Given the description of an element on the screen output the (x, y) to click on. 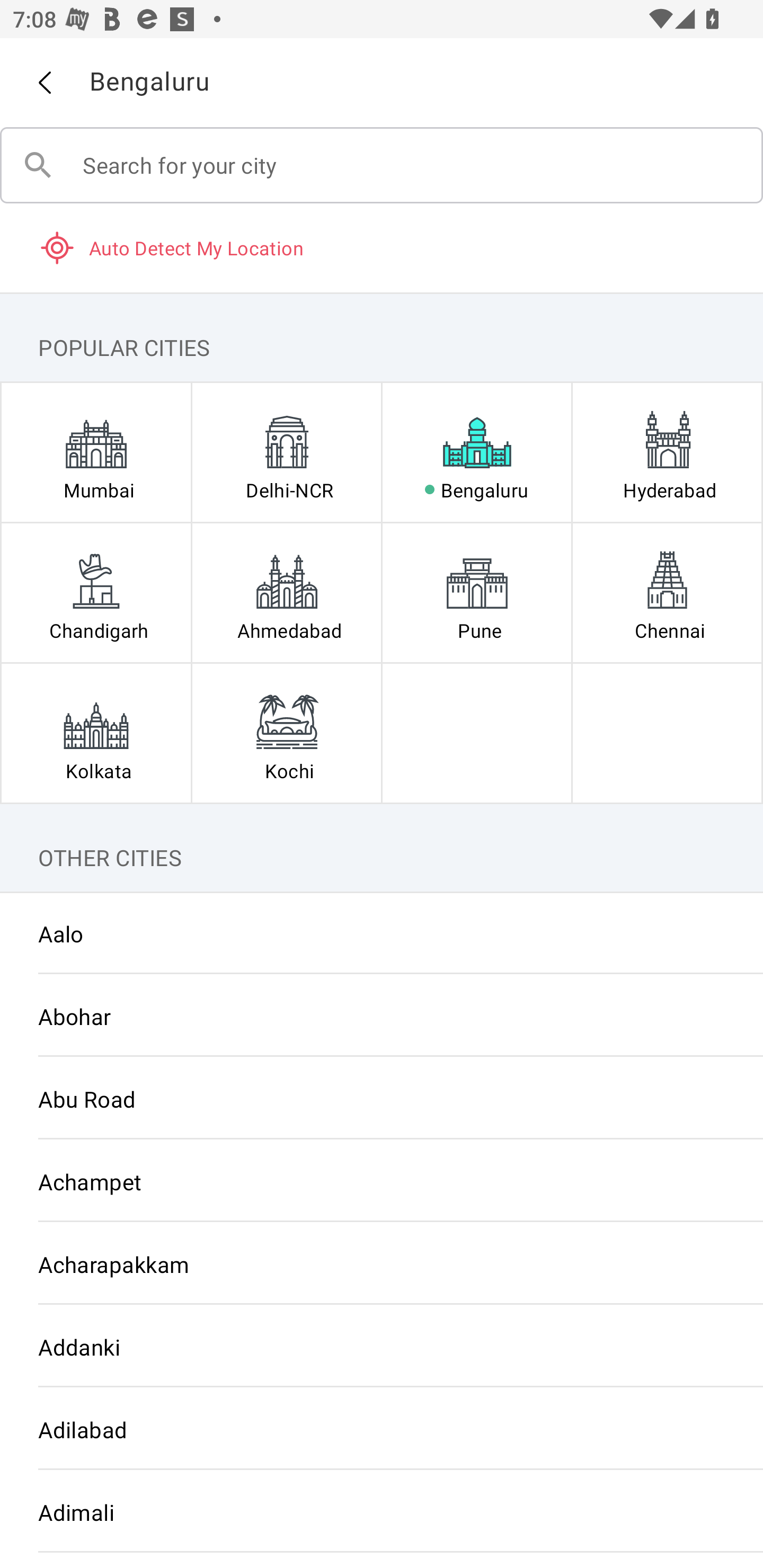
Back (44, 82)
Search for your city (381, 165)
Auto Detect My Location (381, 247)
Mumbai (95, 452)
Delhi-NCR (286, 452)
Bengaluru (476, 452)
Hyderabad (667, 452)
Chandigarh (95, 592)
Ahmedabad (286, 592)
Pune (476, 592)
Chennai (667, 592)
Kolkata (95, 732)
Kochi (286, 732)
Aalo (381, 933)
Abohar (381, 1015)
Abu Road (381, 1098)
Achampet (381, 1181)
Acharapakkam (381, 1263)
Addanki (381, 1346)
Adilabad (381, 1429)
Adimali (381, 1512)
